Given the description of an element on the screen output the (x, y) to click on. 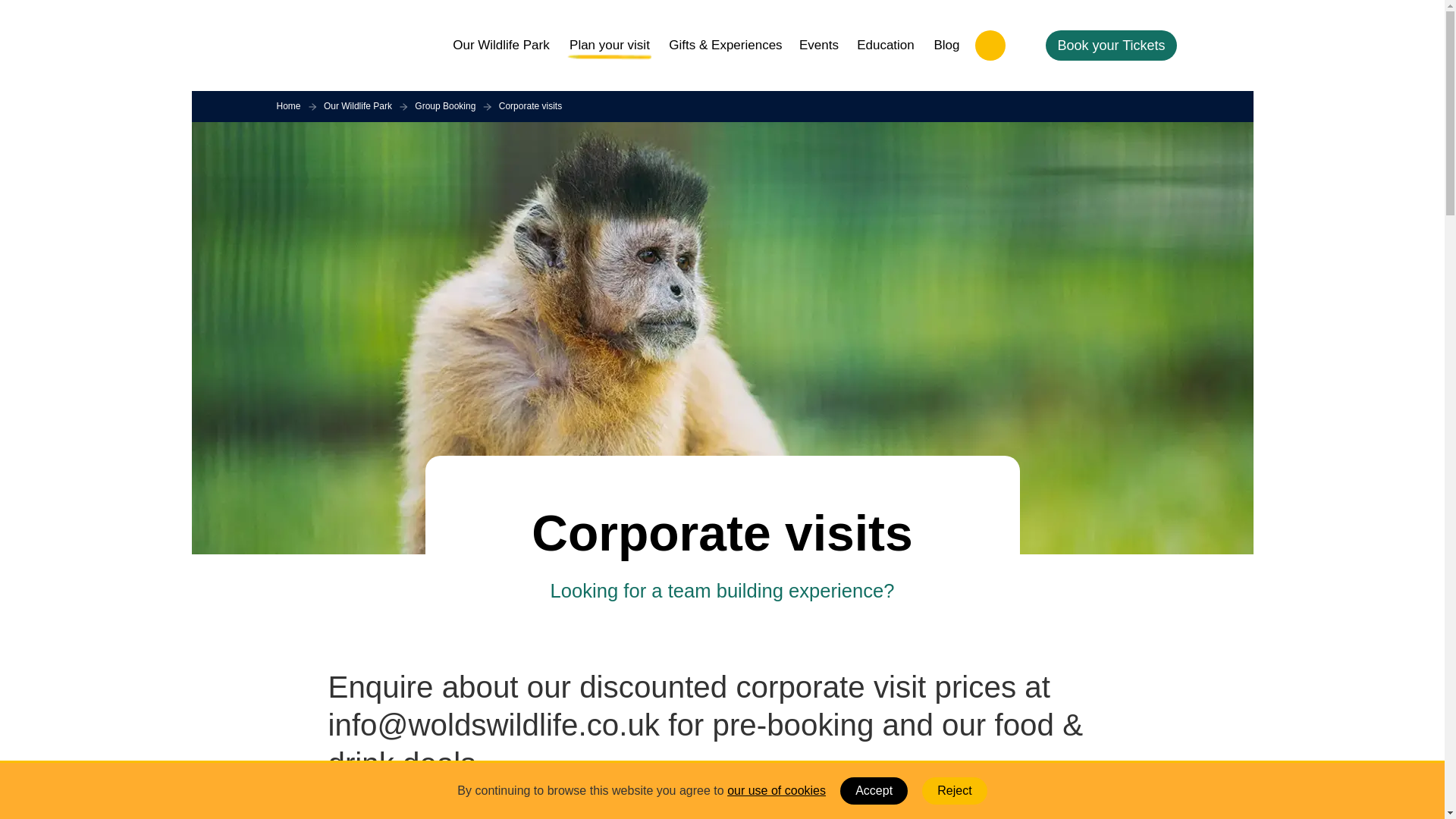
Home (287, 106)
Group Booking (445, 106)
Book your Tickets (1110, 45)
Events (818, 44)
Education (885, 44)
Our Wildlife Park (500, 44)
Blog (945, 44)
Our Wildlife Park (357, 106)
Plan your visit (609, 44)
